Given the description of an element on the screen output the (x, y) to click on. 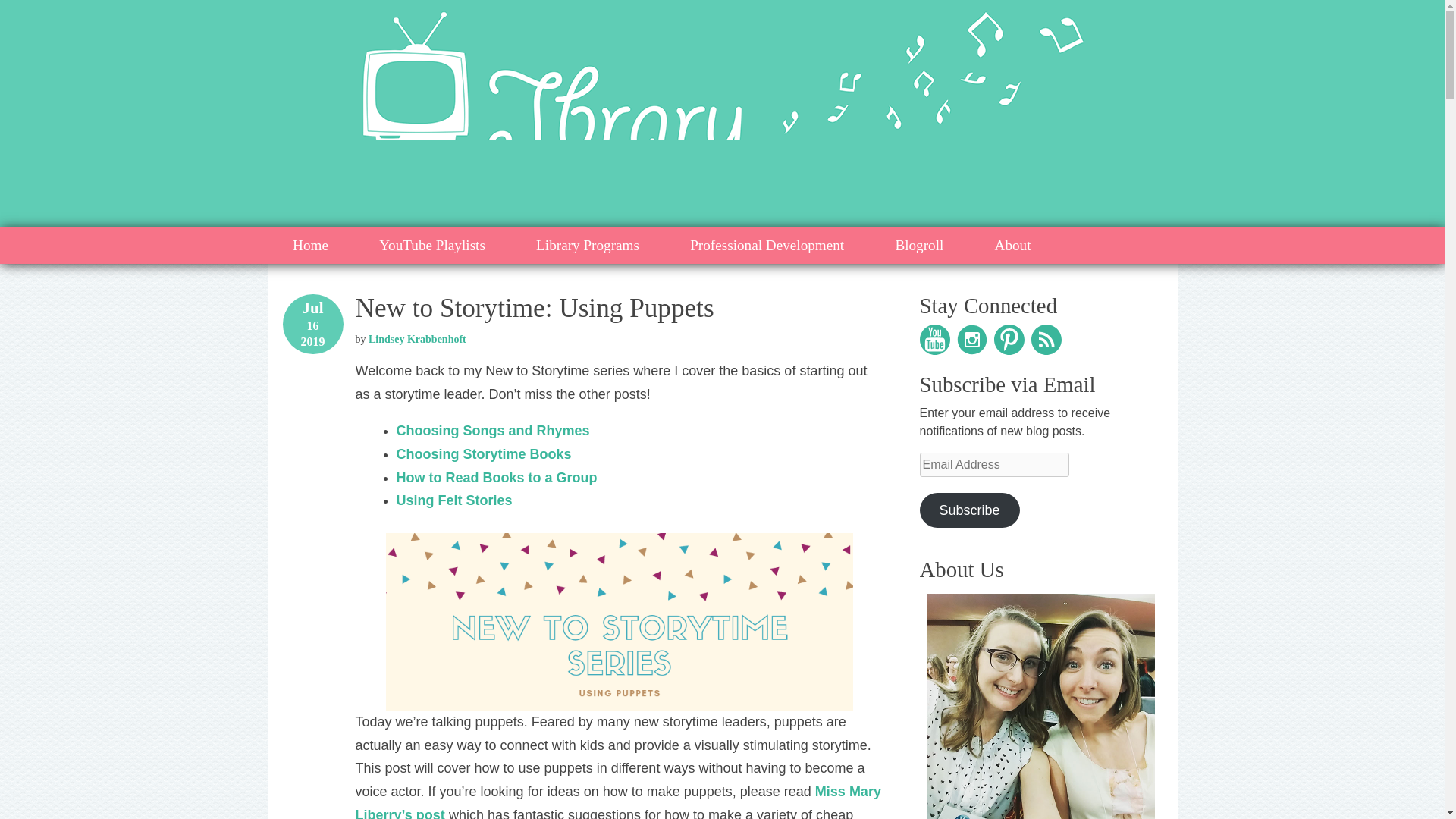
Home (309, 245)
How to Read Books to a Group (496, 477)
Blogroll (919, 245)
Lindsey Krabbenhoft (416, 338)
YouTube Playlists (432, 245)
Using Felt Stories (454, 500)
Library Programs (588, 245)
About (1013, 245)
Professional Development (767, 245)
Choosing Songs and Rhymes (492, 430)
